Given the description of an element on the screen output the (x, y) to click on. 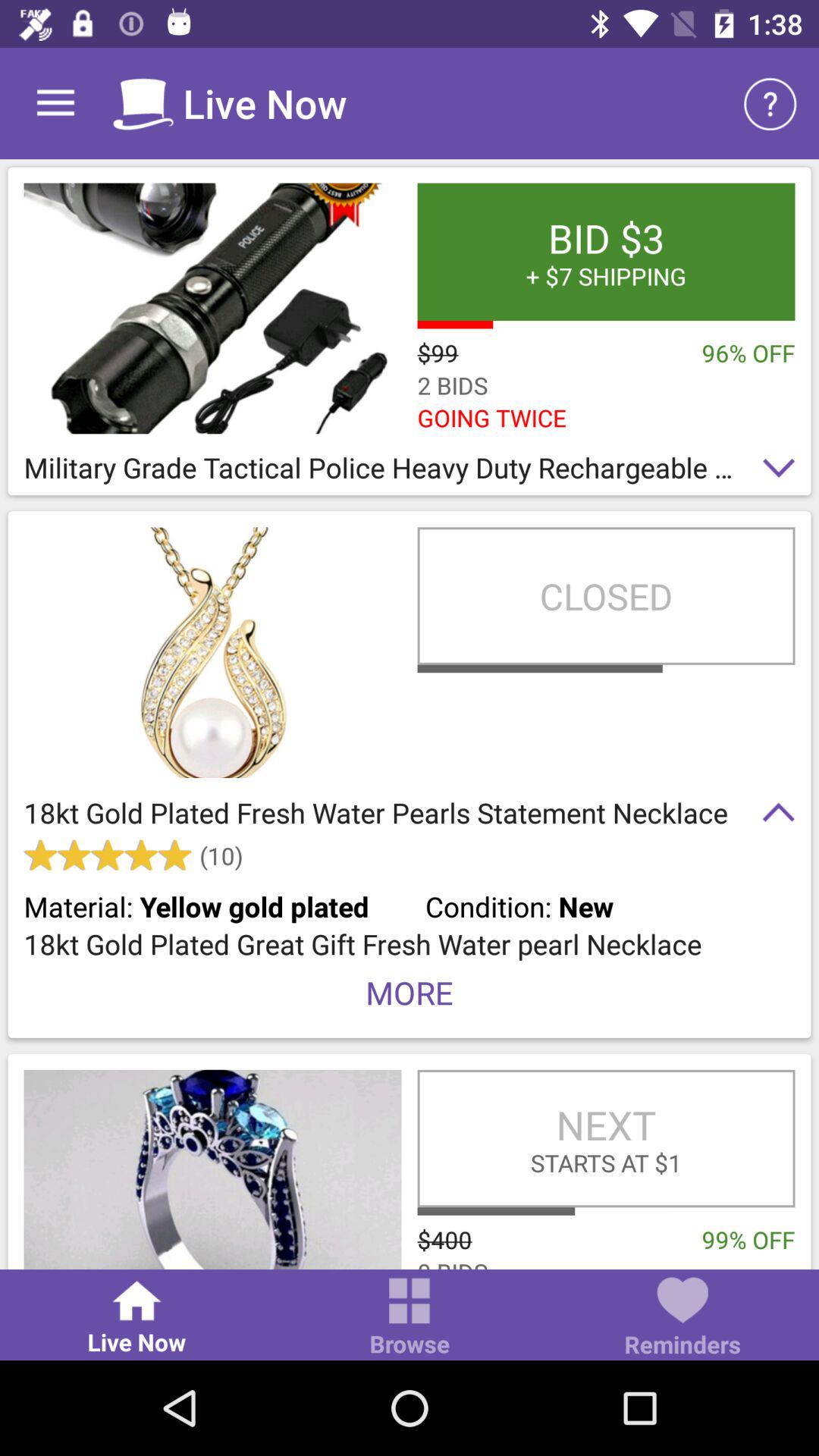
jump until closed (606, 595)
